Given the description of an element on the screen output the (x, y) to click on. 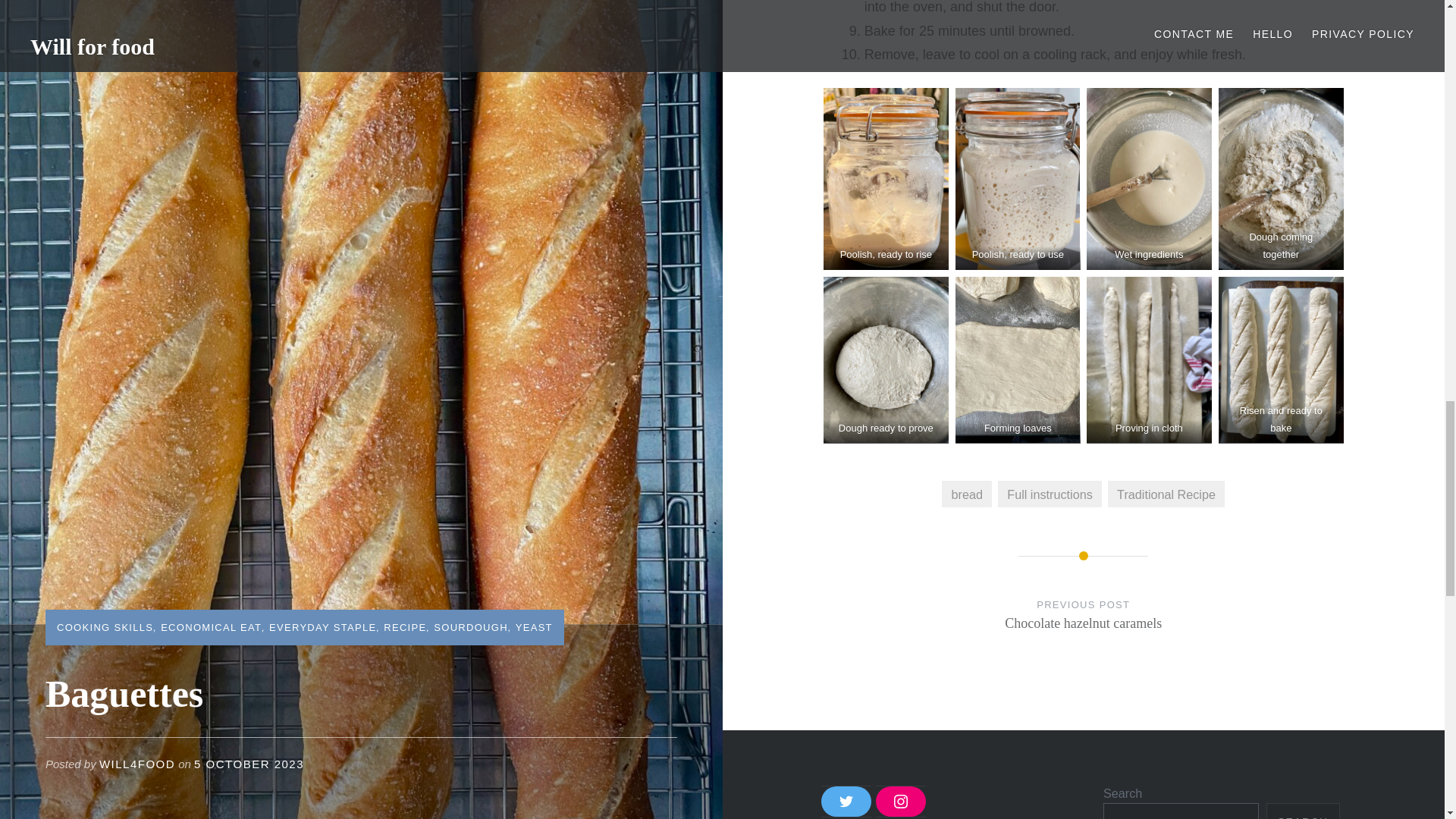
Traditional Recipe (1166, 493)
SEARCH (1083, 629)
bread (1302, 811)
Twitter (966, 493)
Full instructions (845, 801)
Instagram (1049, 493)
Twitter (901, 801)
Instagram (845, 801)
